Given the description of an element on the screen output the (x, y) to click on. 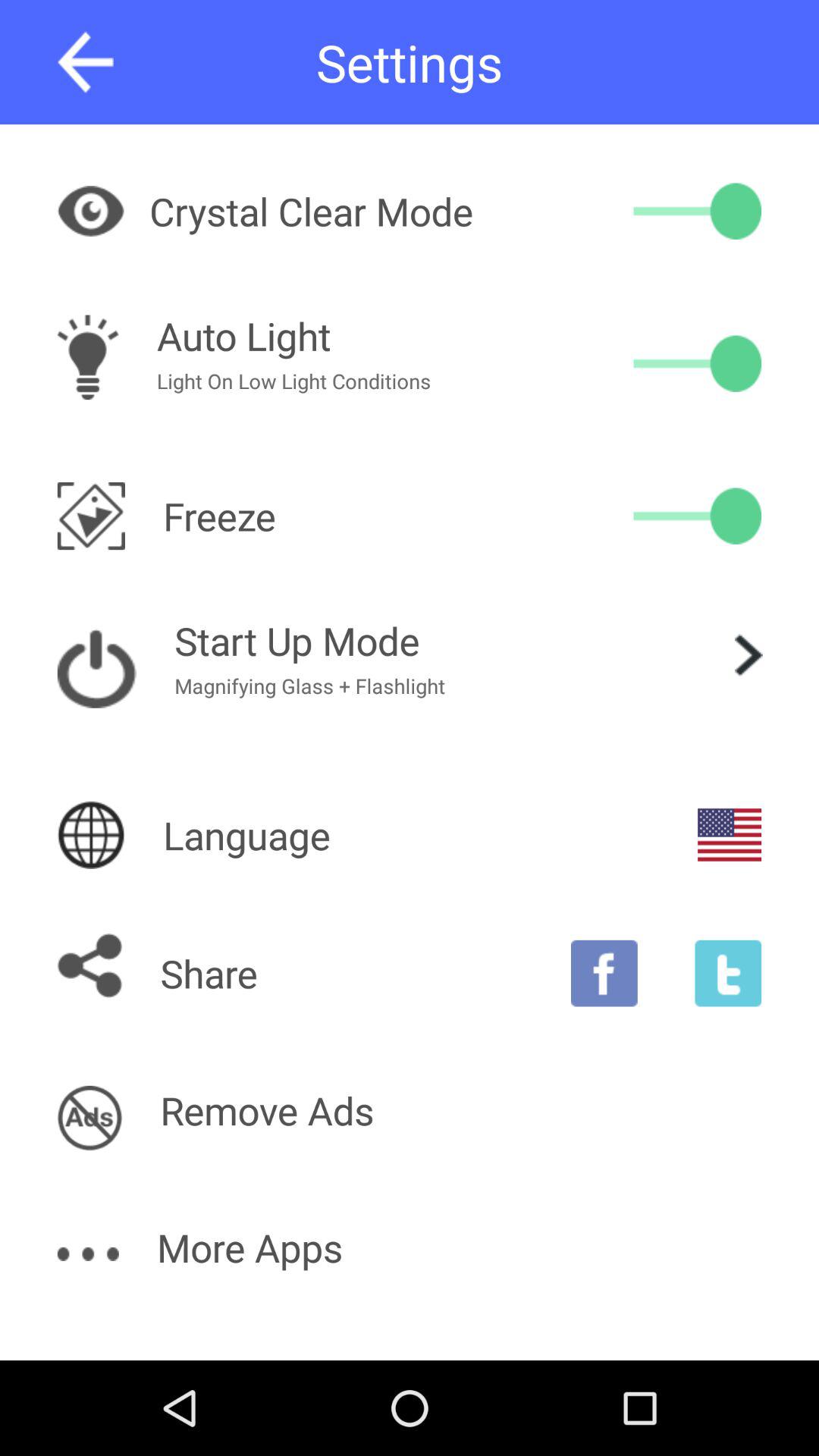
share on tumblr (728, 973)
